Given the description of an element on the screen output the (x, y) to click on. 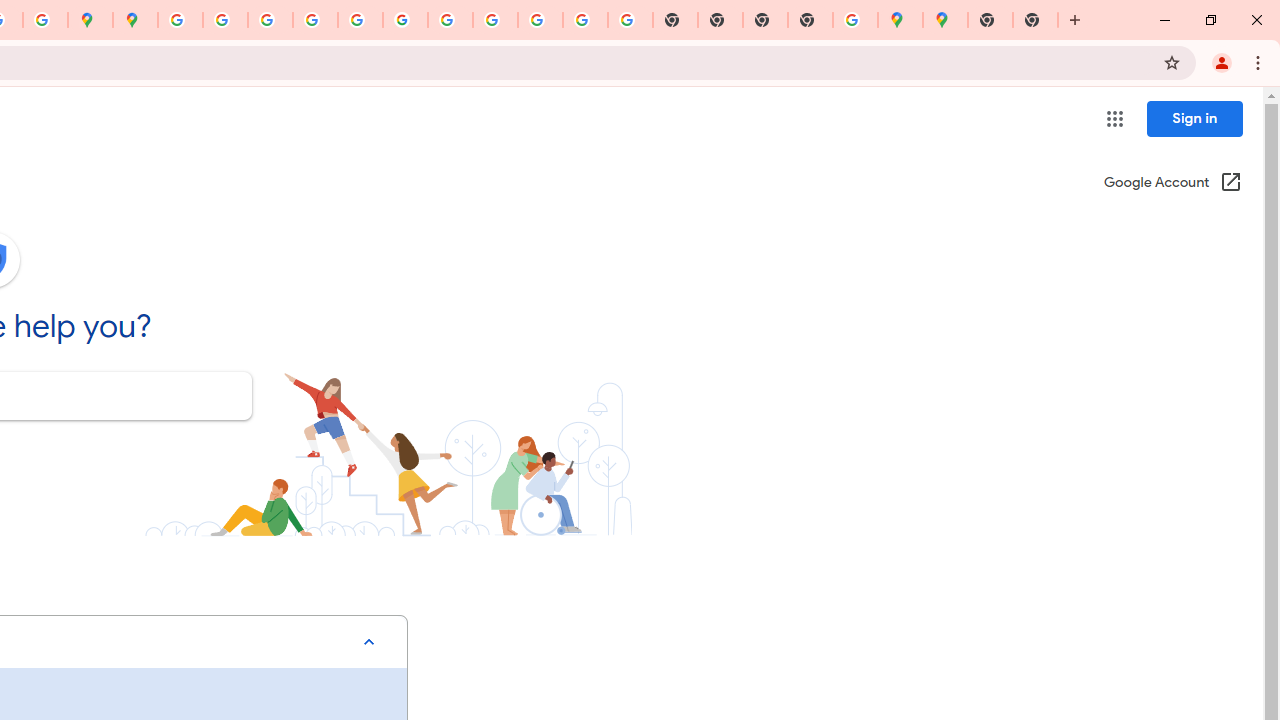
Privacy Help Center - Policies Help (315, 20)
New Tab (810, 20)
